Given the description of an element on the screen output the (x, y) to click on. 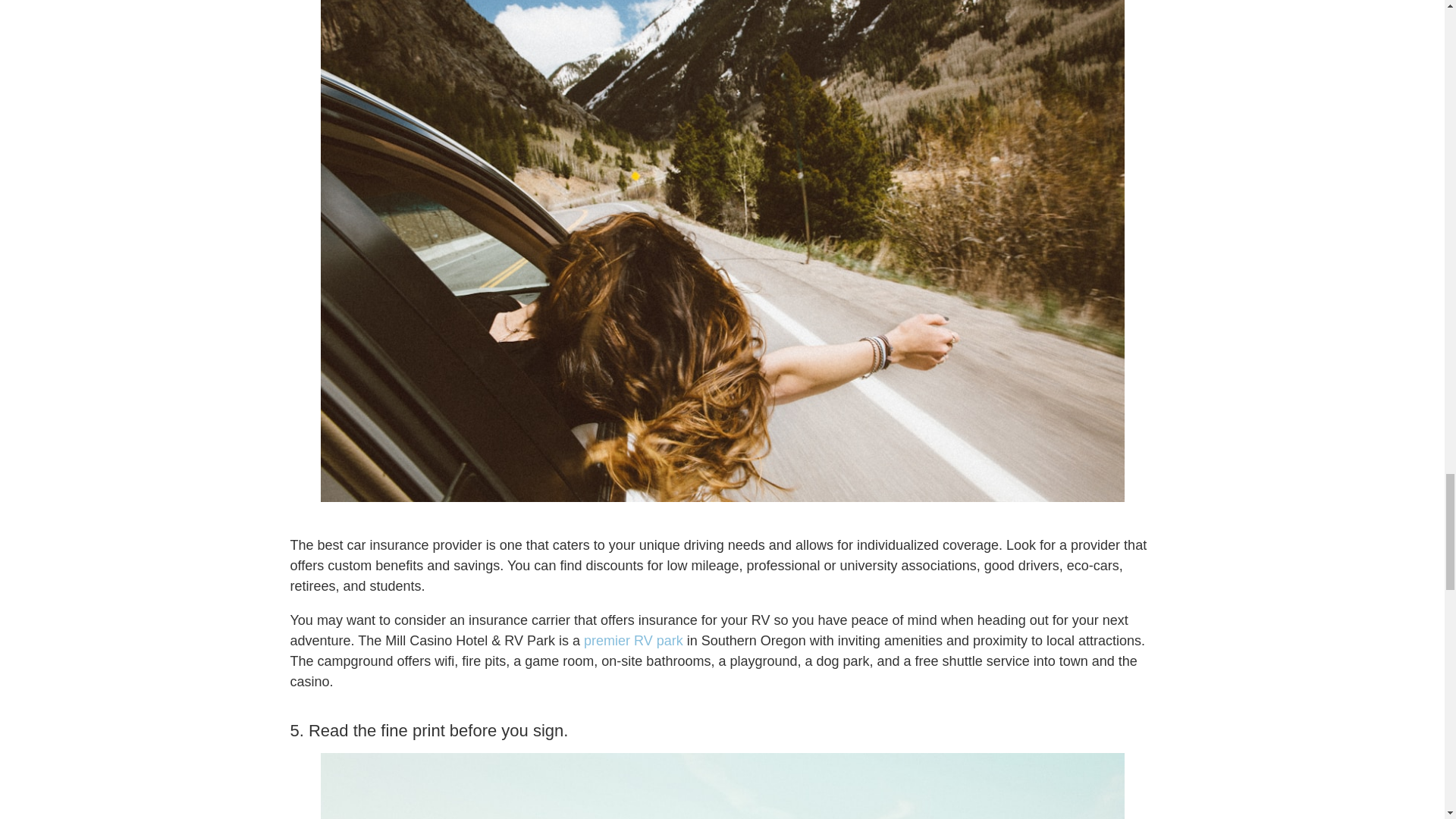
premier RV park (632, 640)
